Given the description of an element on the screen output the (x, y) to click on. 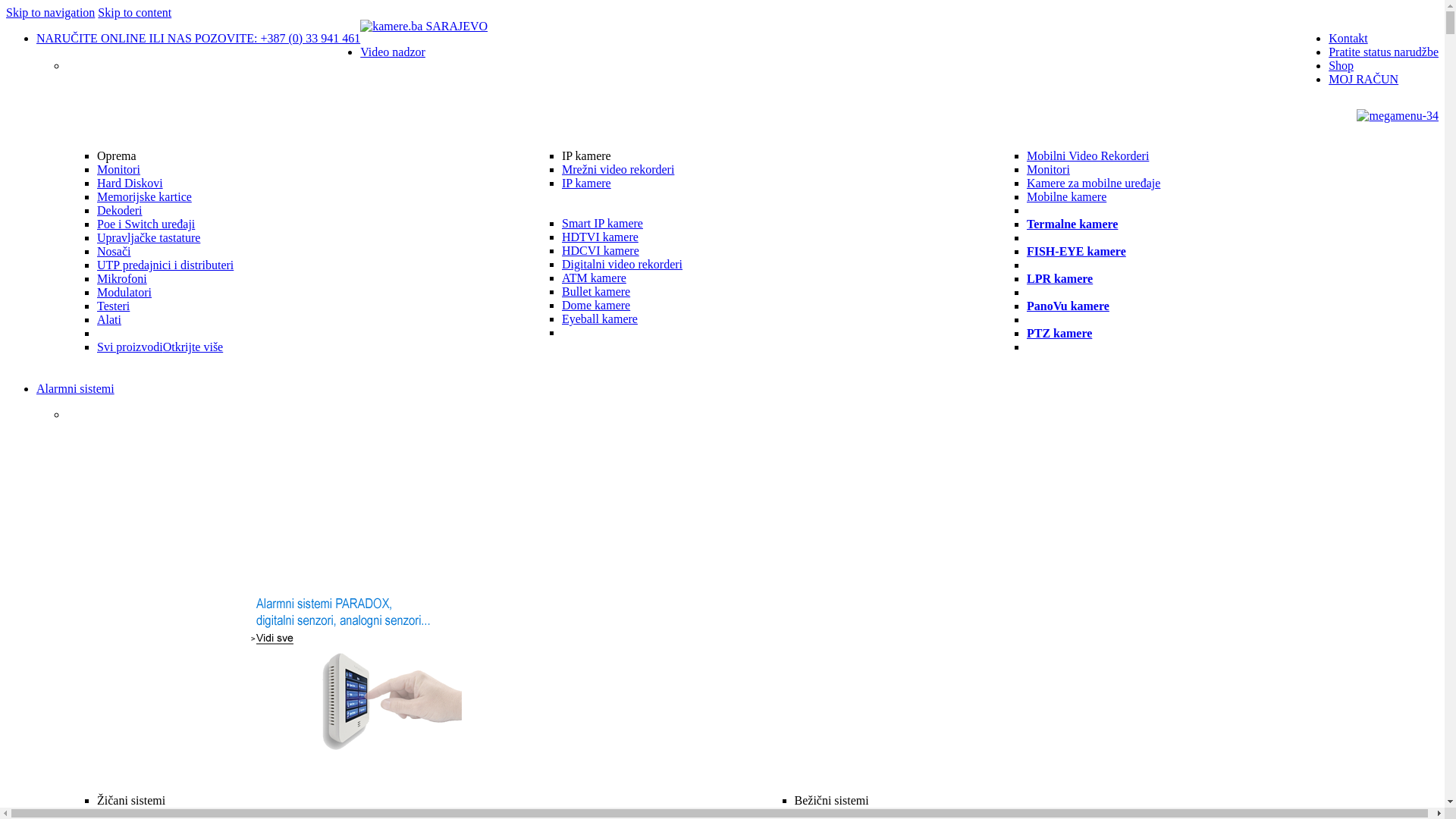
Digitalni video rekorderi Element type: text (621, 263)
Monitori Element type: text (118, 169)
PTZ kamere Element type: text (1059, 332)
megamenu-34 Element type: hover (1397, 115)
Mikrofoni Element type: text (122, 278)
Dome kamere Element type: text (595, 304)
PanoVu kamere Element type: text (1067, 305)
Bullet kamere Element type: text (595, 291)
Monitori Element type: text (1048, 169)
Smart IP kamere Element type: text (602, 222)
ATM kamere Element type: text (593, 277)
Eyeball kamere Element type: text (599, 318)
Kontakt Element type: text (1348, 37)
Mobilni Video Rekorderi Element type: text (1087, 155)
LPR kamere Element type: text (1059, 278)
Shop Element type: text (1340, 65)
Dekoderi Element type: text (119, 209)
Alati Element type: text (109, 319)
UTP predajnici i distributeri Element type: text (165, 264)
Alarmni sistemi Element type: text (75, 388)
HDCVI kamere Element type: text (600, 250)
Hard Diskovi Element type: text (130, 182)
Skip to navigation Element type: text (50, 12)
Skip to content Element type: text (134, 12)
Memorijske kartice Element type: text (144, 196)
Video nadzor Element type: text (392, 51)
Modulatori Element type: text (124, 291)
Termalne kamere Element type: text (1071, 223)
IP kamere Element type: text (586, 182)
HDTVI kamere Element type: text (599, 236)
Mobilne kamere Element type: text (1066, 196)
FISH-EYE kamere Element type: text (1076, 250)
Testeri Element type: text (113, 305)
